Given the description of an element on the screen output the (x, y) to click on. 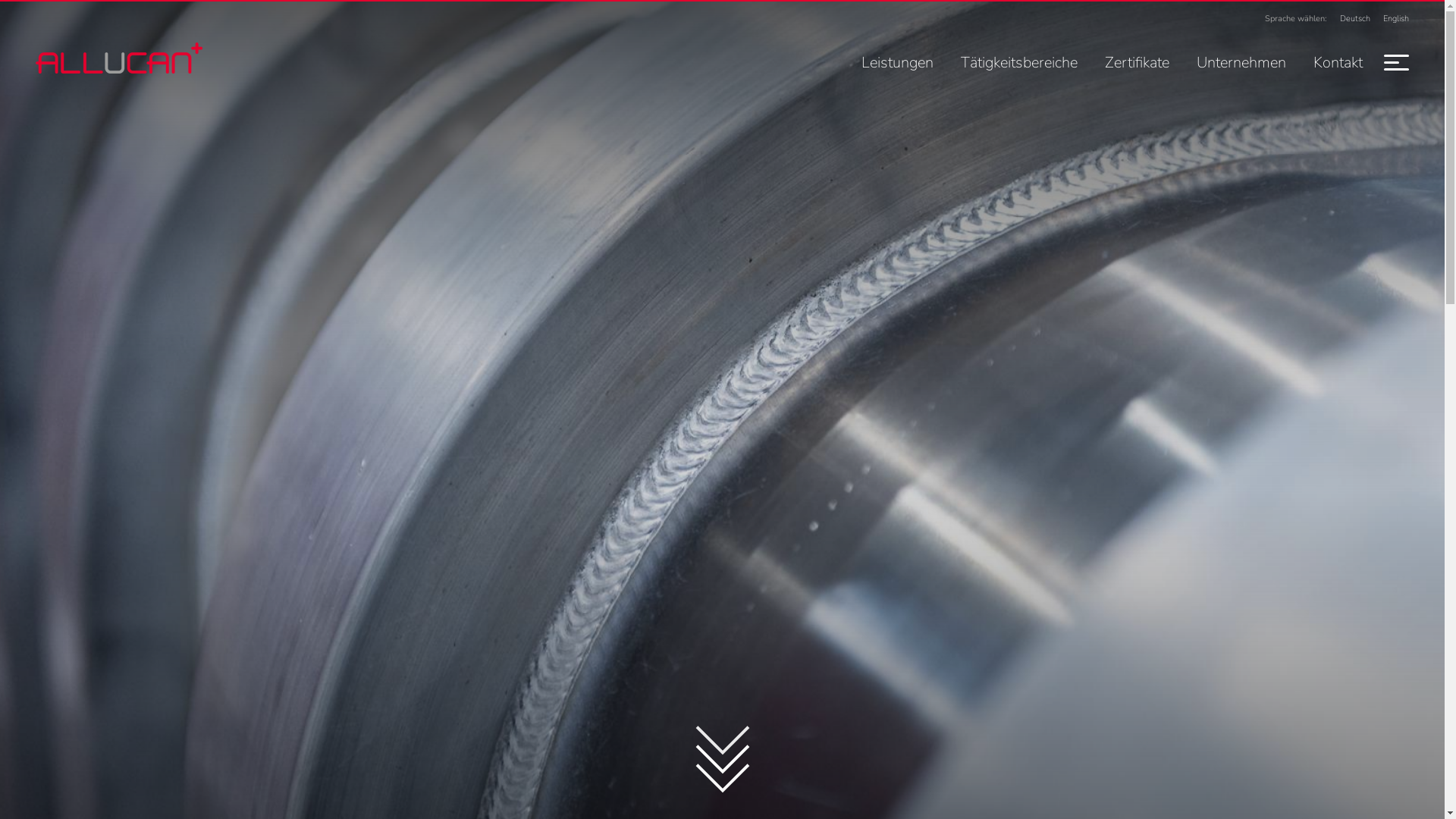
Kontakt Element type: text (1337, 62)
English Element type: text (1396, 18)
Zertifikate Element type: text (1136, 62)
Leistungen Element type: text (897, 62)
Deutsch Element type: text (1355, 18)
Unternehmen Element type: text (1241, 62)
